Given the description of an element on the screen output the (x, y) to click on. 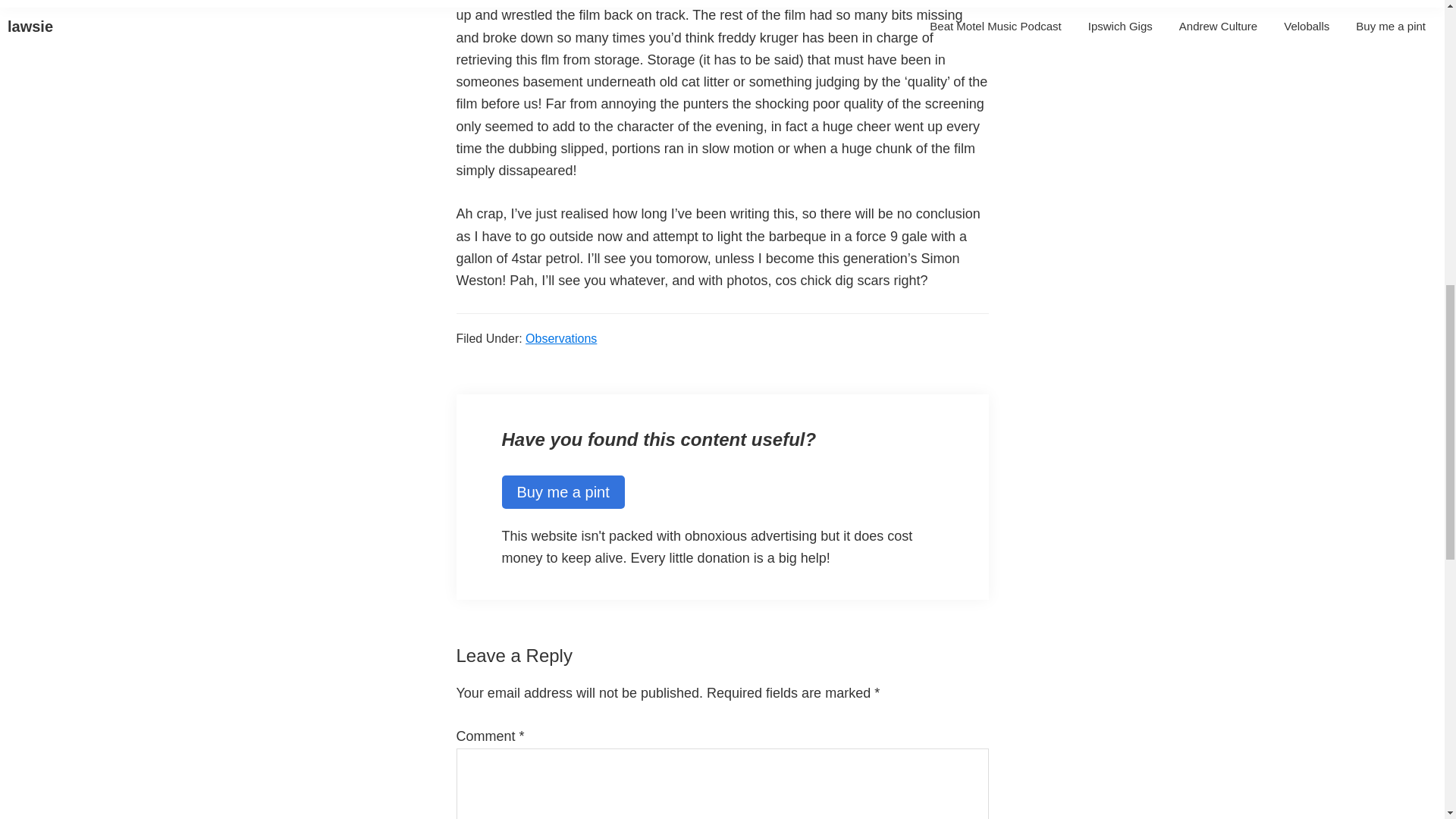
Observations (560, 338)
Buy me a pint (563, 491)
